Given the description of an element on the screen output the (x, y) to click on. 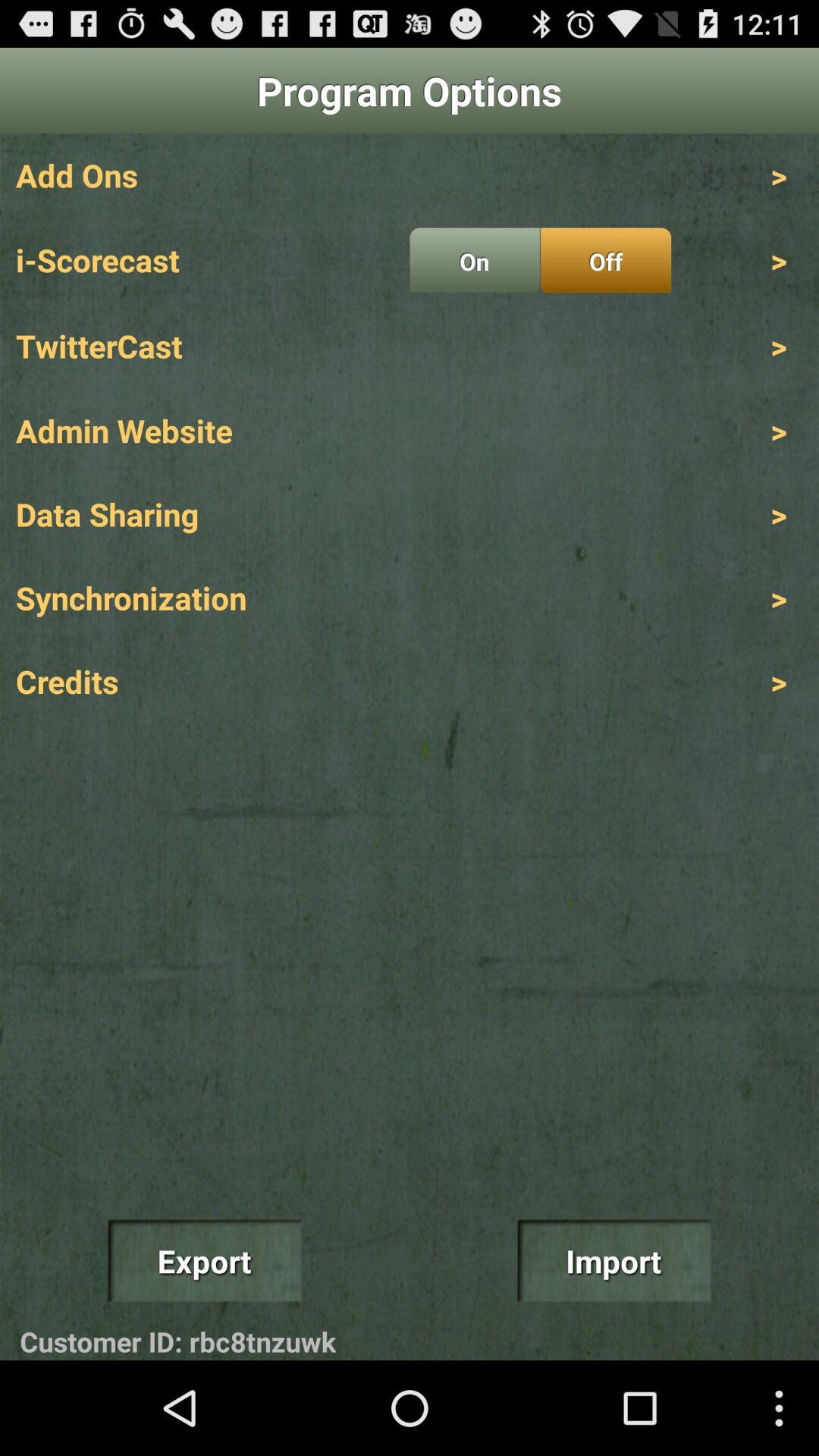
choose the item to the right of i-scorecast icon (474, 259)
